Given the description of an element on the screen output the (x, y) to click on. 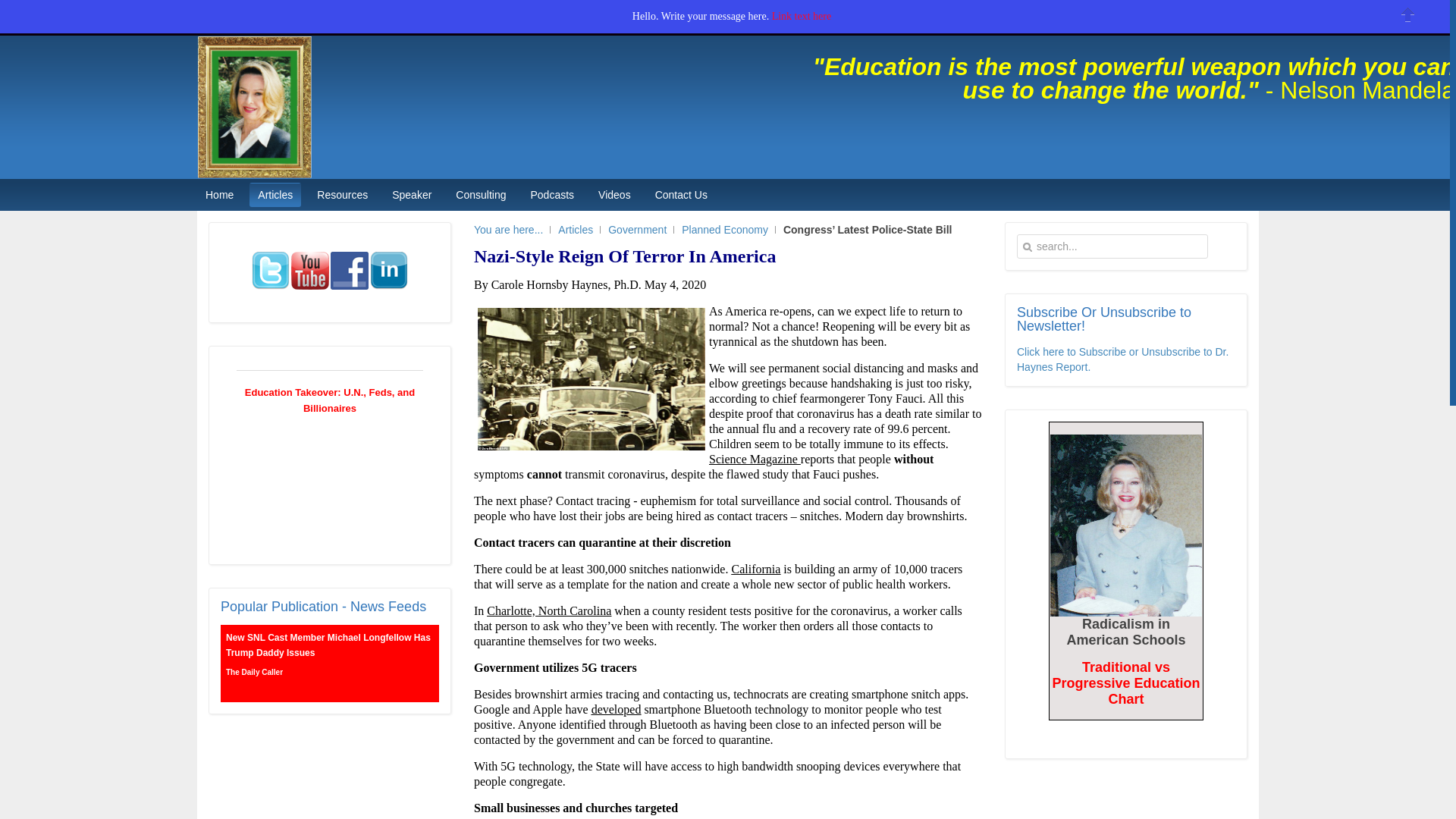
Home (218, 194)
Articles (274, 194)
JoomlaWorks AllVideos Player (329, 471)
Link text here (801, 16)
